Given the description of an element on the screen output the (x, y) to click on. 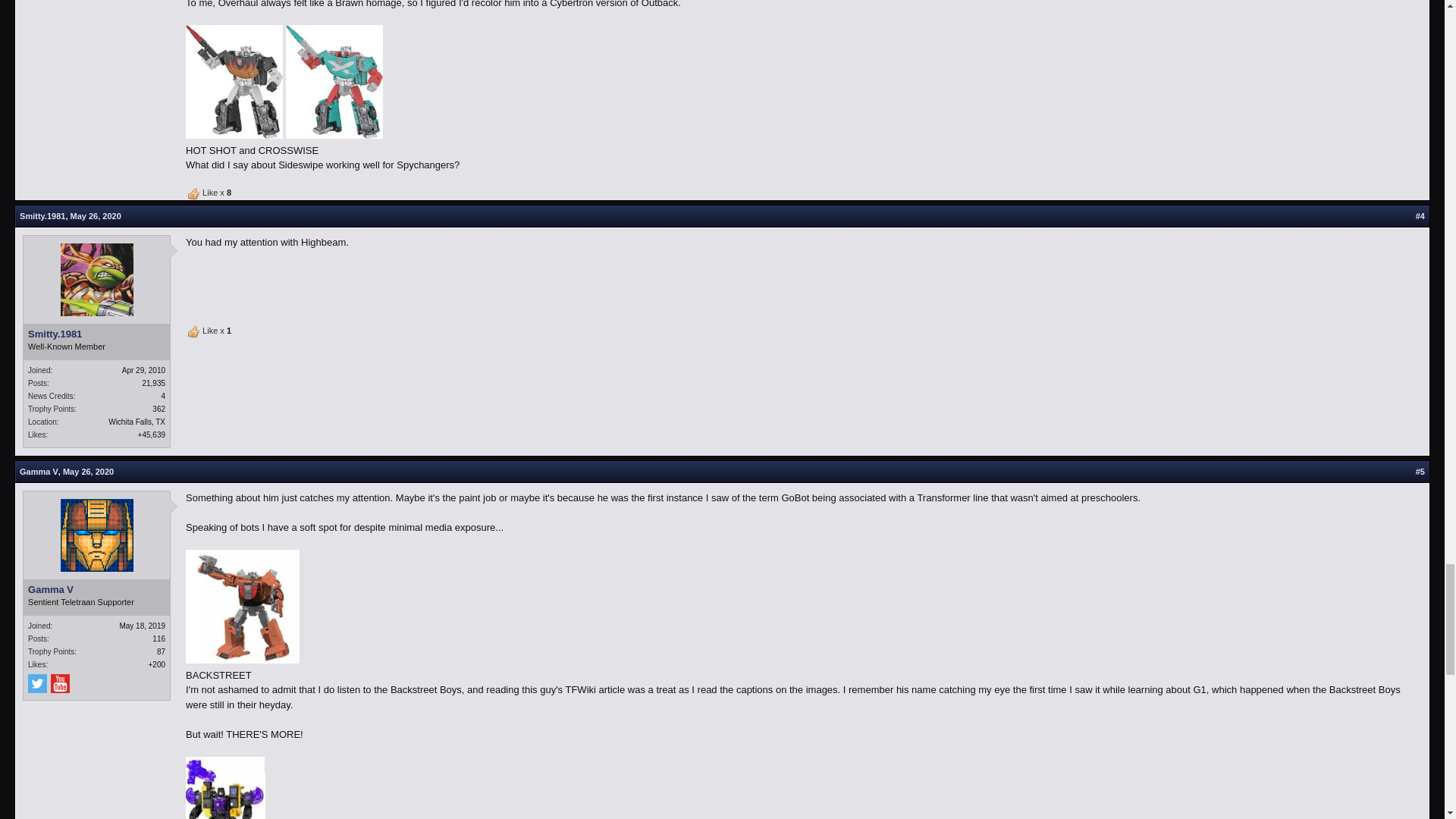
Like (193, 331)
Like (193, 193)
Permalink (1420, 215)
Permalink (94, 215)
Permalink (87, 470)
